Given the description of an element on the screen output the (x, y) to click on. 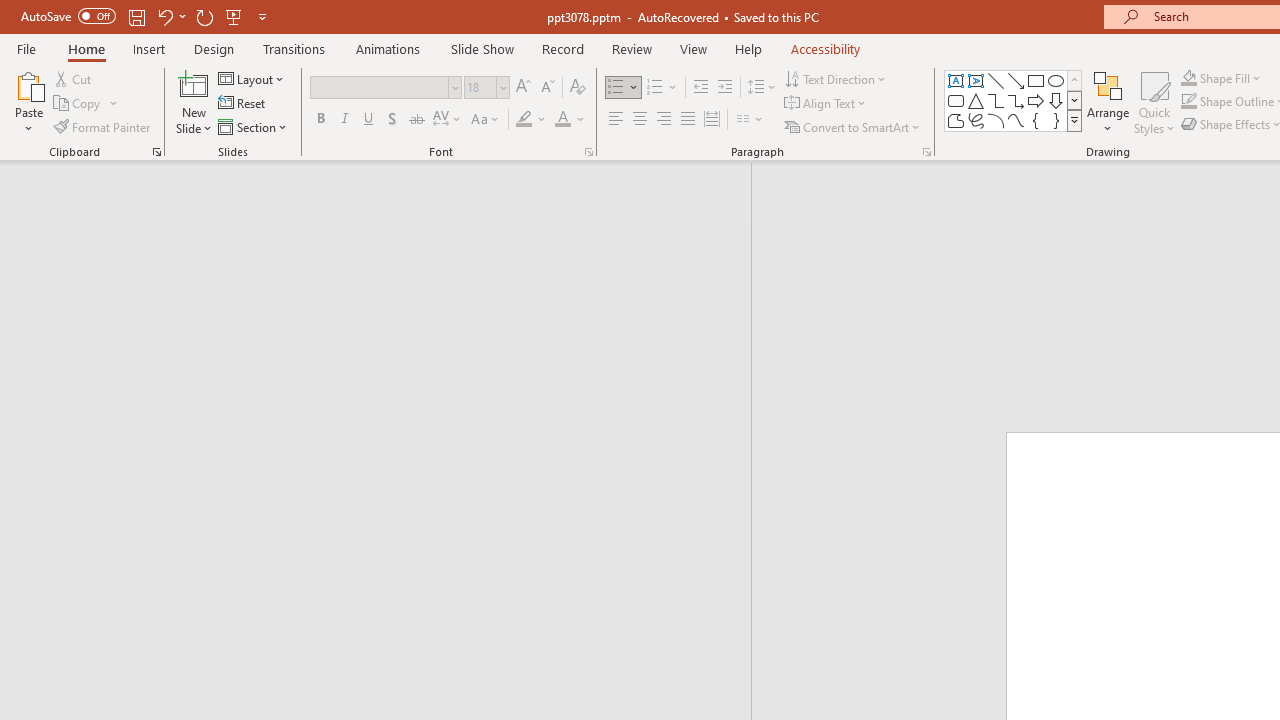
Vertical Text Box (975, 80)
Rectangle (1035, 80)
Paste (28, 102)
Line Arrow (1016, 80)
Increase Font Size (522, 87)
Convert to SmartArt (853, 126)
Copy (78, 103)
Paragraph... (926, 151)
Accessibility (825, 48)
Row up (1074, 79)
Curve (1016, 120)
Font Size (486, 87)
Arrange (1108, 102)
